Given the description of an element on the screen output the (x, y) to click on. 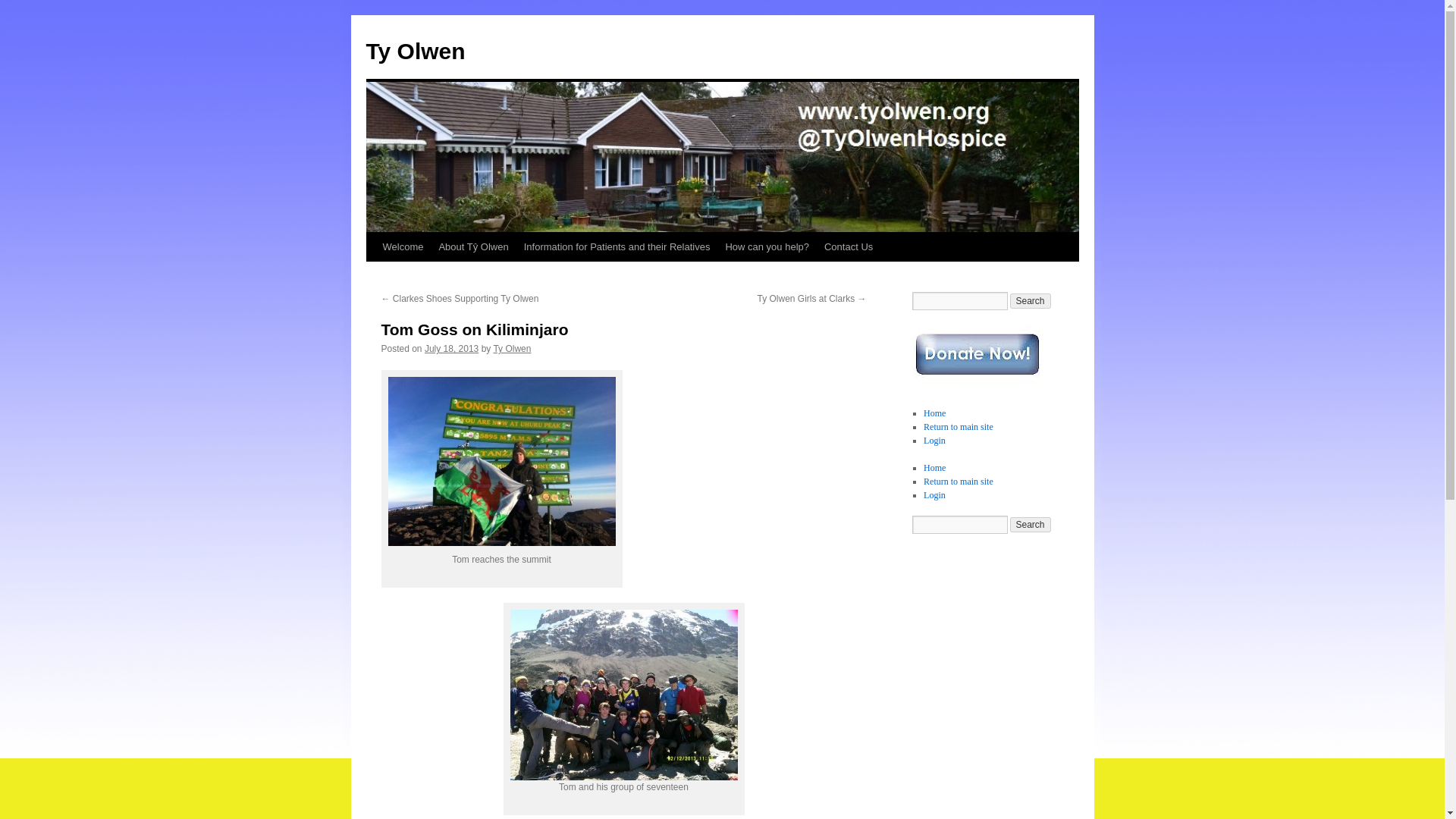
Login (933, 439)
How can you help? (766, 246)
Contact Us (848, 246)
Ty Olwen (414, 50)
Tom 1 (501, 461)
Return to main site (957, 426)
Ty Olwen (512, 348)
Welcome (402, 246)
Information for Patients and their Relatives (616, 246)
July 18, 2013 (452, 348)
